Given the description of an element on the screen output the (x, y) to click on. 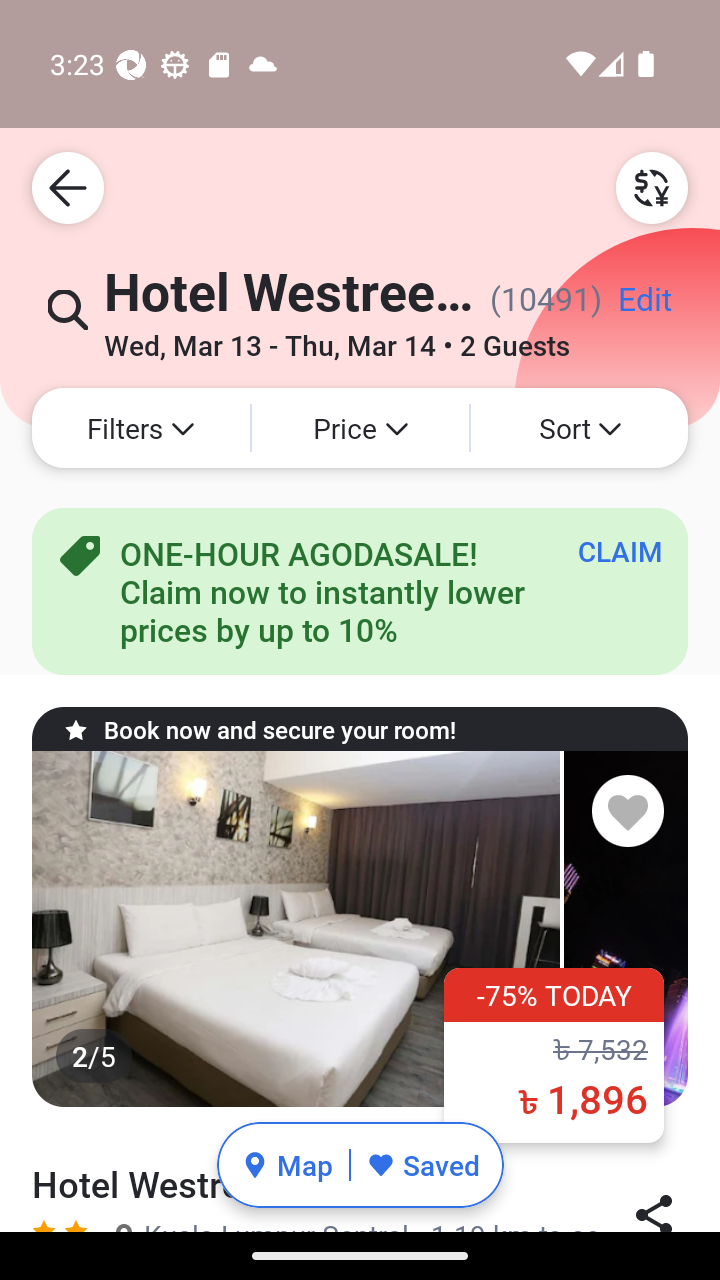
Edit (644, 306)
Wed, Mar 13 - Thu, Mar 14 • 2 Guests (336, 338)
Filters (140, 428)
Price (359, 428)
Sort (579, 428)
CLAIM (620, 551)
2/5 (359, 929)
-75% TODAY ‪৳ 7,532 ‪৳ 1,896 (553, 1055)
Map Saved (359, 1165)
